Given the description of an element on the screen output the (x, y) to click on. 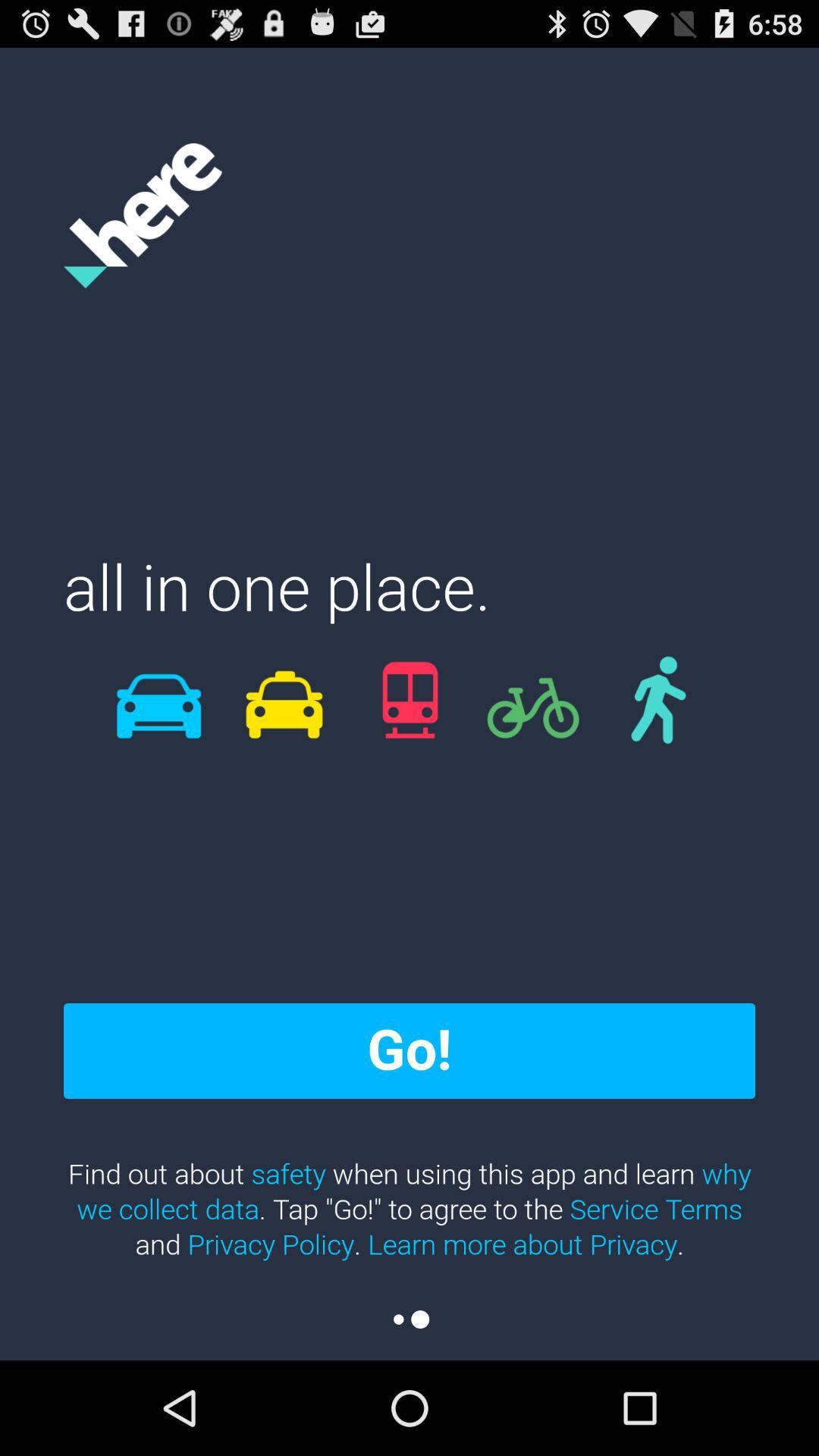
choose the icon above find out about item (409, 1050)
